Given the description of an element on the screen output the (x, y) to click on. 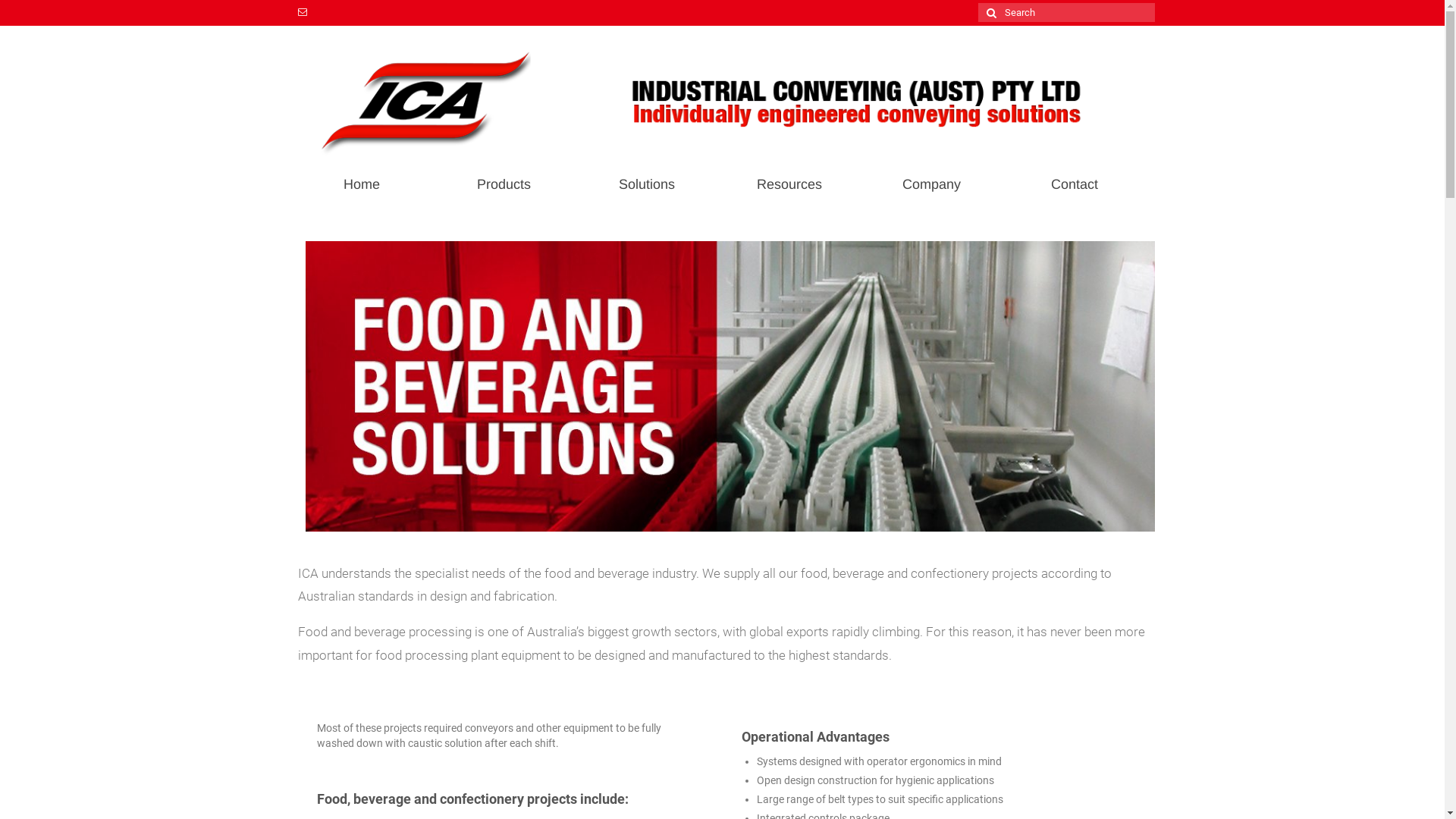
Home Element type: text (360, 184)
Products Element type: text (504, 184)
Email Us Element type: hover (301, 12)
Solutions Element type: text (646, 184)
Contact Element type: text (1074, 184)
Resources Element type: text (789, 184)
Company Element type: text (931, 184)
